Given the description of an element on the screen output the (x, y) to click on. 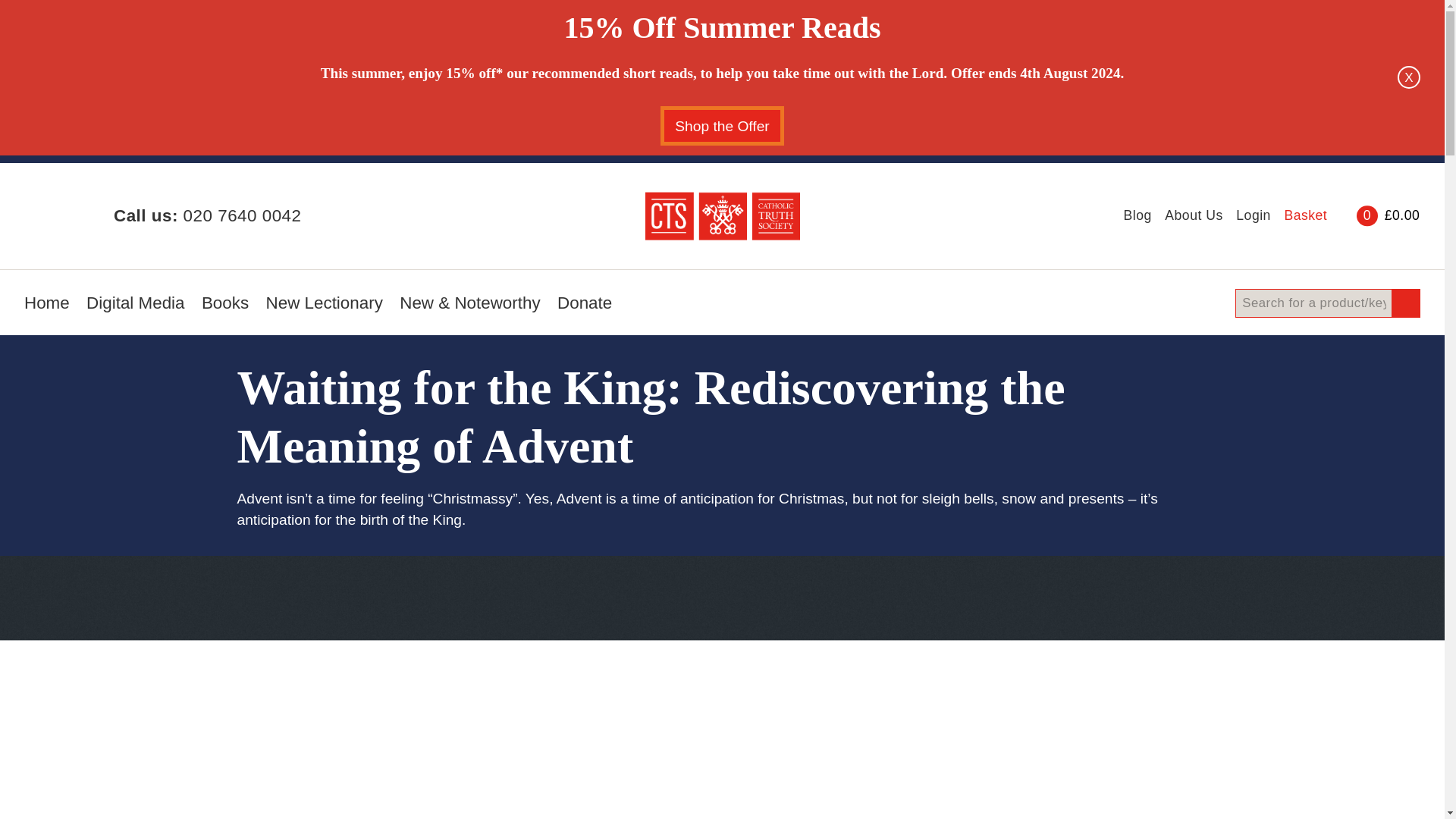
Digital Media (134, 307)
site-search (1327, 303)
Login (1253, 215)
Twitter (43, 215)
Call us: 020 7640 0042 (207, 215)
Shop the Offer (722, 125)
Youtube (86, 215)
X (1409, 77)
Instagram (65, 215)
Basket (1341, 214)
Facebook (26, 215)
New Lectionary (324, 307)
Search (1404, 303)
About Us (1193, 215)
